Given the description of an element on the screen output the (x, y) to click on. 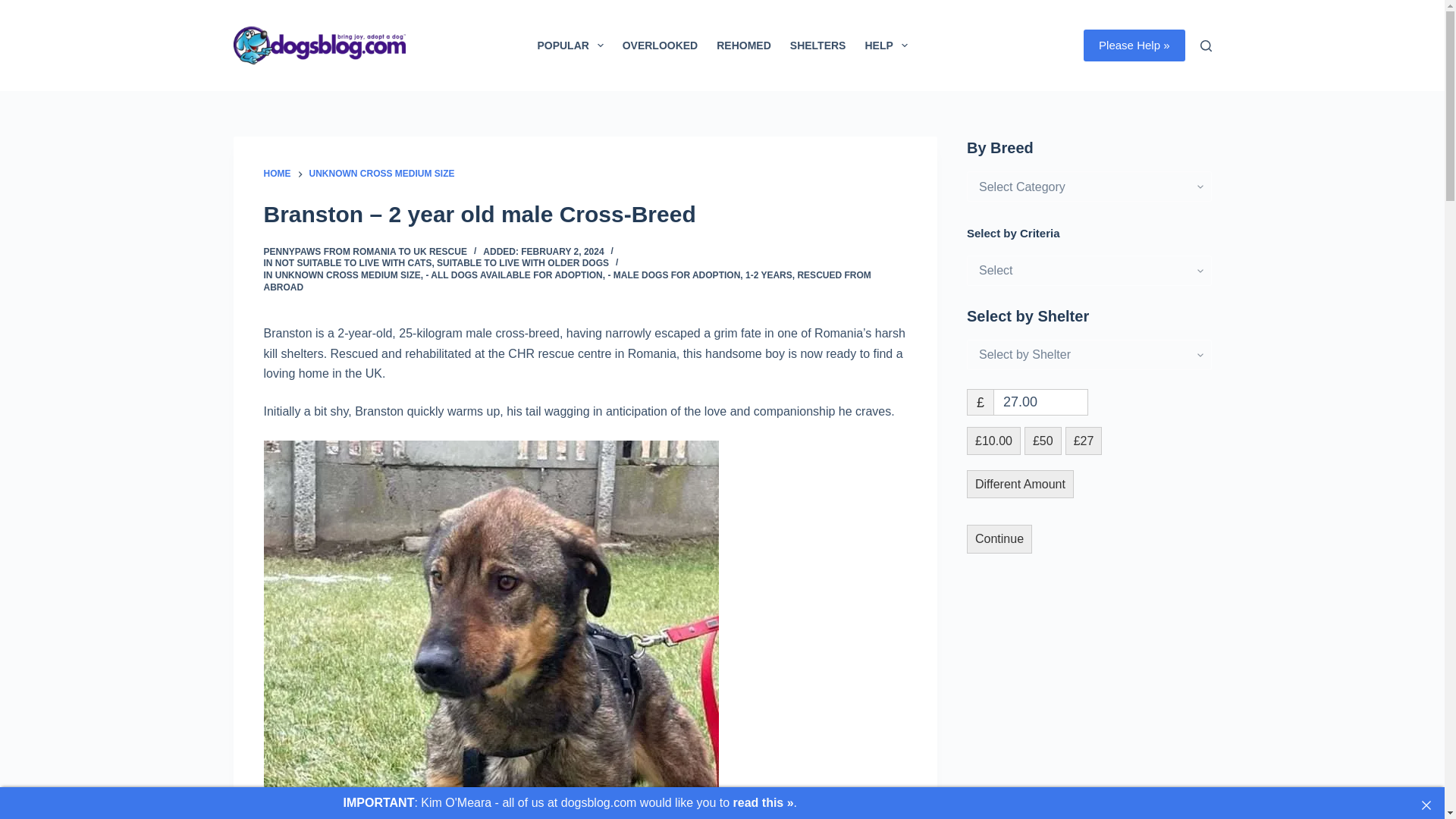
Overlooked Dogs for Adoption (659, 45)
Skip to content (15, 7)
Posts by Pennypaws from Romania to UK rescue (365, 251)
Popular Dogs for Adoption (569, 45)
27.00 (1039, 402)
POPULAR (569, 45)
